Given the description of an element on the screen output the (x, y) to click on. 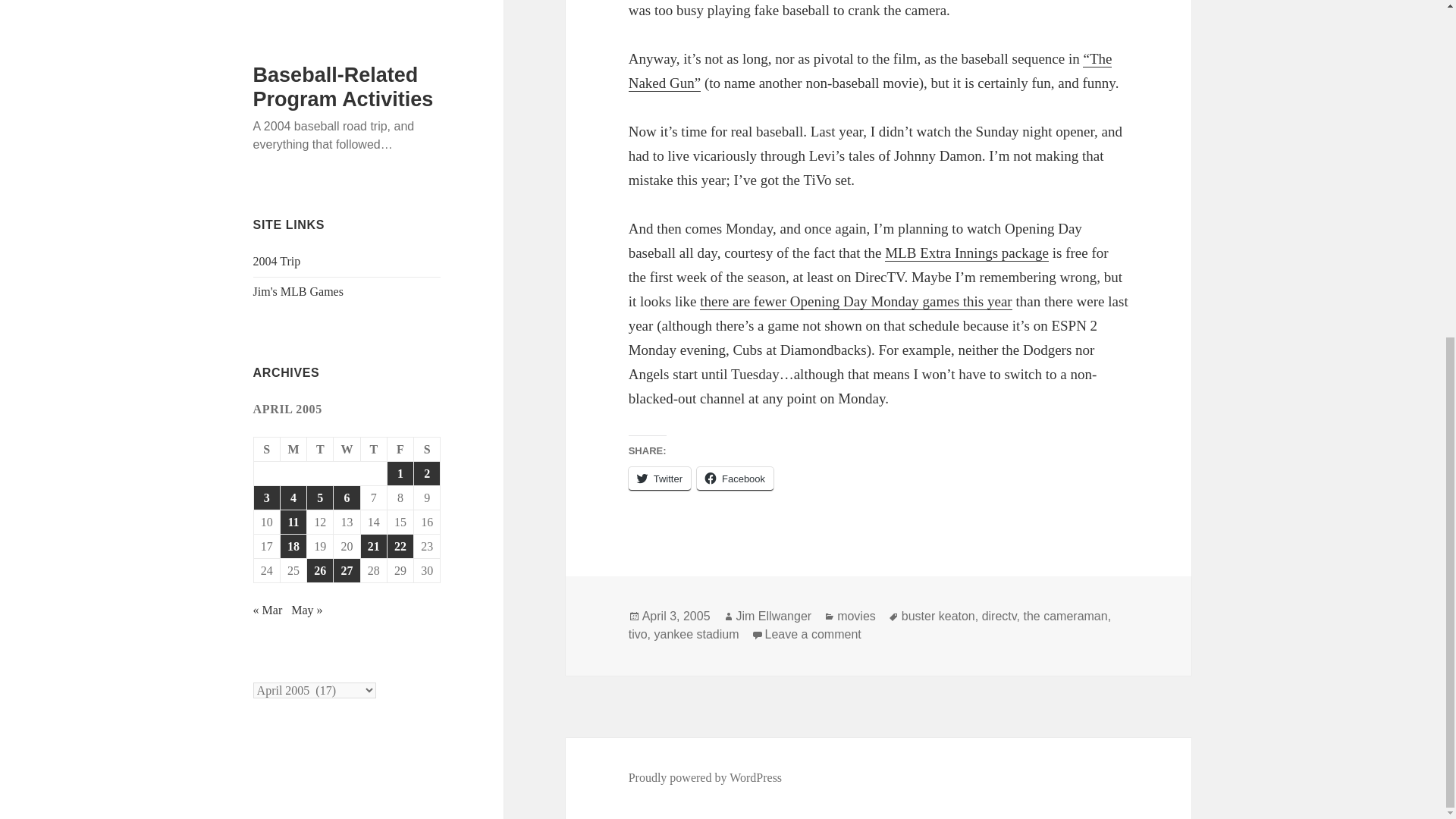
Proudly powered by WordPress (813, 634)
buster keaton (704, 777)
27 (938, 616)
Click to share on Facebook (346, 7)
26 (735, 478)
MLB Extra Innings package (320, 7)
tivo (966, 252)
the cameraman (637, 634)
Facebook (1064, 616)
directv (735, 478)
Jim Ellwanger (998, 616)
yankee stadium (774, 616)
Twitter (695, 634)
Click to share on Twitter (659, 478)
